Given the description of an element on the screen output the (x, y) to click on. 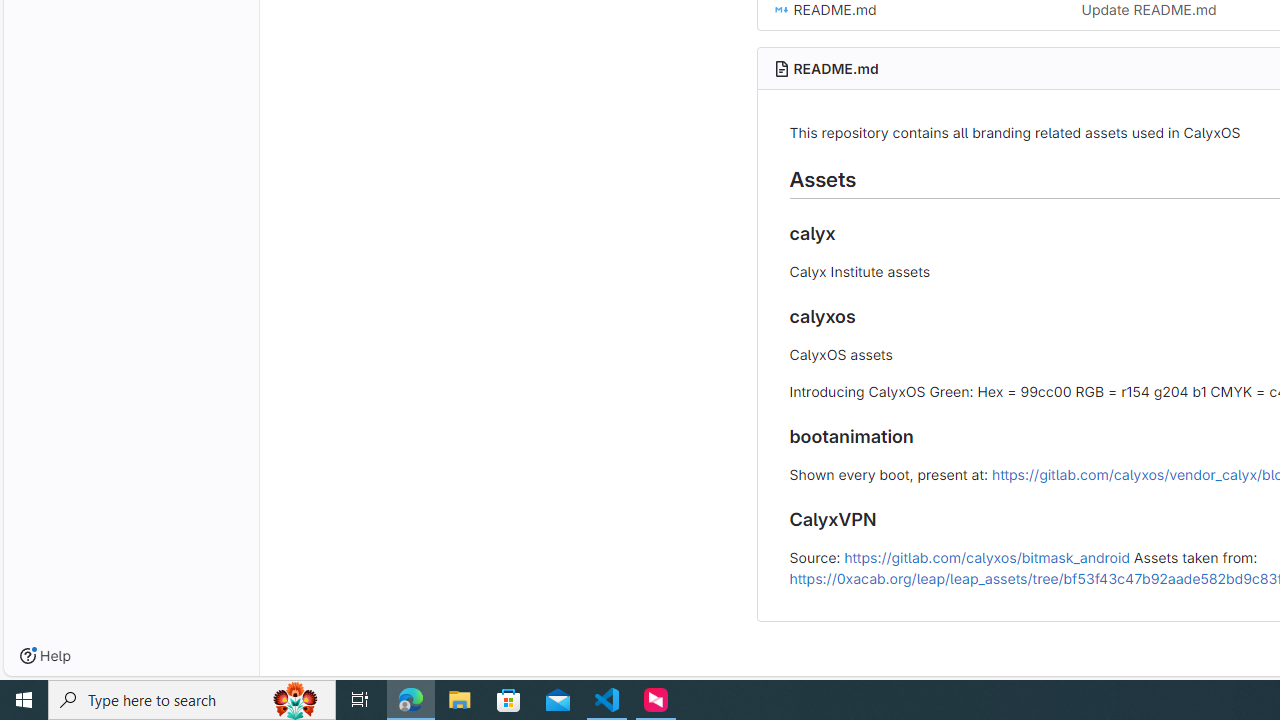
https://gitlab.com/calyxos/bitmask_android (986, 556)
README.md (836, 68)
Class: s16 position-relative file-icon (781, 10)
